Given the description of an element on the screen output the (x, y) to click on. 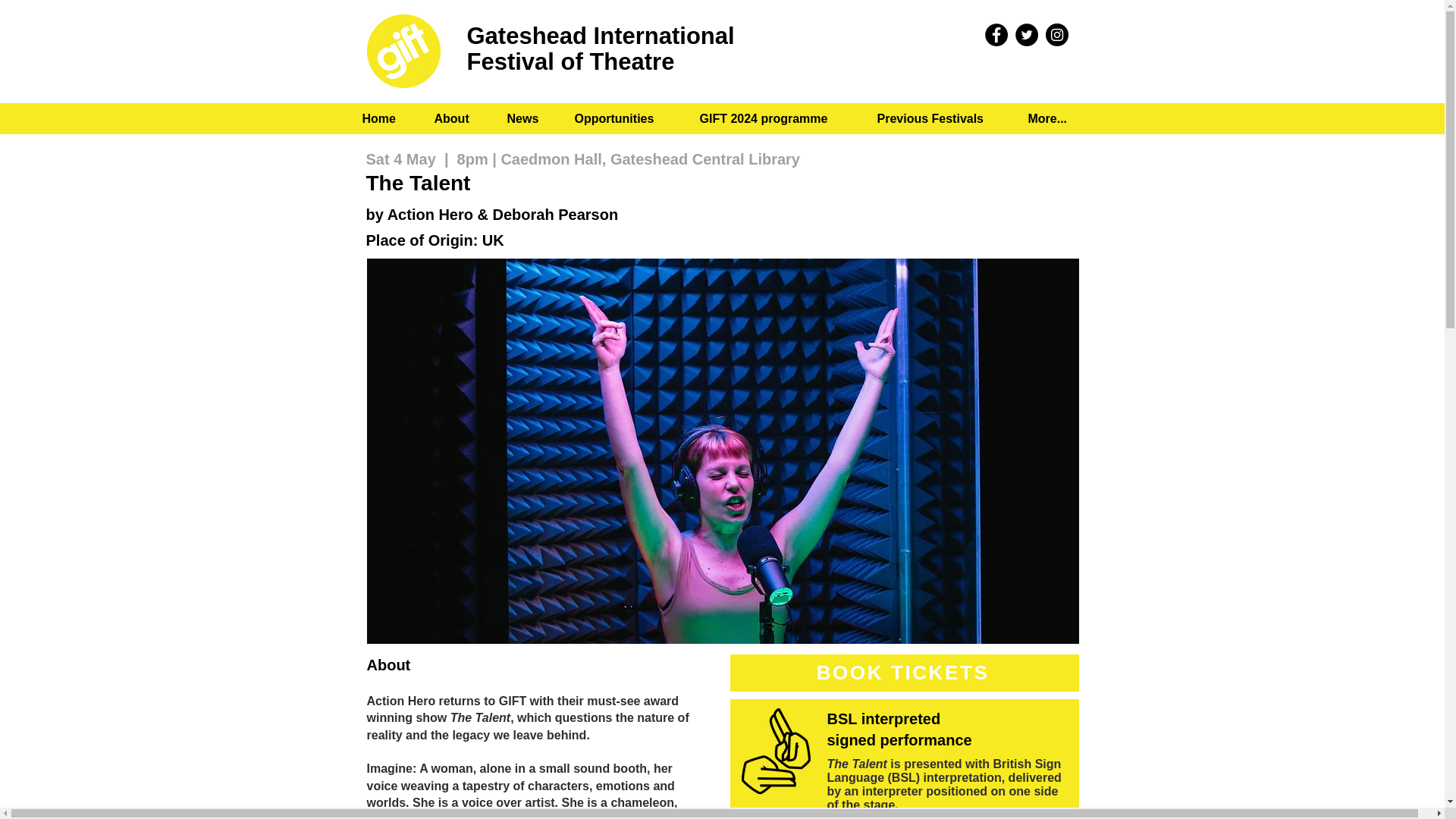
News (528, 118)
GIFT 2024 programme (775, 118)
About (458, 118)
Previous Festivals (939, 118)
Opportunities (624, 118)
BOOK TICKETS (903, 672)
Home (386, 118)
